Given the description of an element on the screen output the (x, y) to click on. 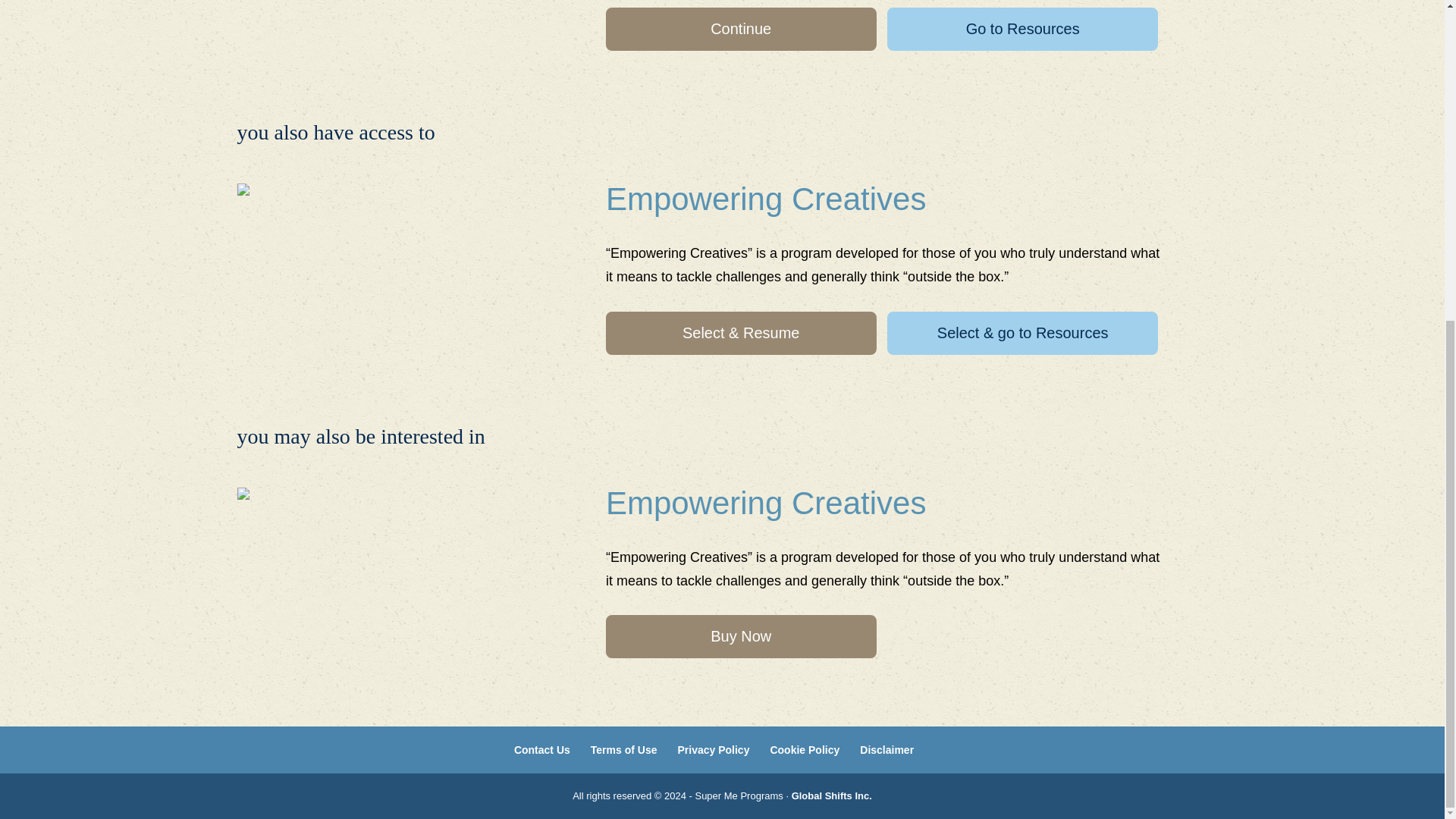
Contact Us (541, 749)
Buy Now (740, 636)
Continue (740, 28)
Go to Resources (1021, 28)
Terms of Use (624, 749)
Cookie Policy (805, 749)
Privacy Policy (713, 749)
Disclaimer (887, 749)
Global Shifts Inc. (832, 795)
